Given the description of an element on the screen output the (x, y) to click on. 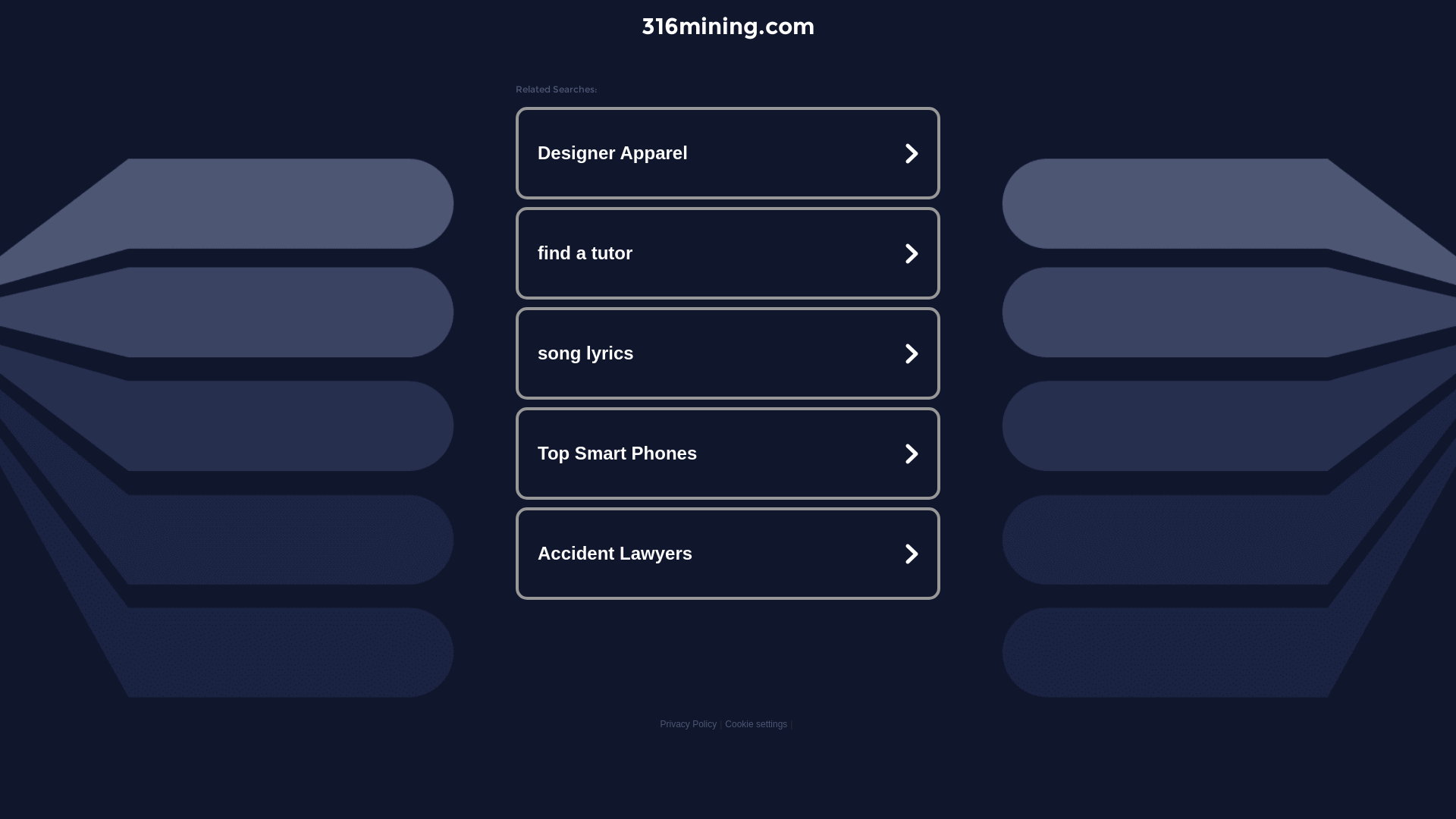
Accident Lawyers Element type: text (727, 553)
Top Smart Phones Element type: text (727, 453)
Designer Apparel Element type: text (727, 152)
find a tutor Element type: text (727, 253)
Cookie settings Element type: text (755, 723)
song lyrics Element type: text (727, 353)
316mining.com Element type: text (727, 26)
Privacy Policy Element type: text (687, 723)
